Given the description of an element on the screen output the (x, y) to click on. 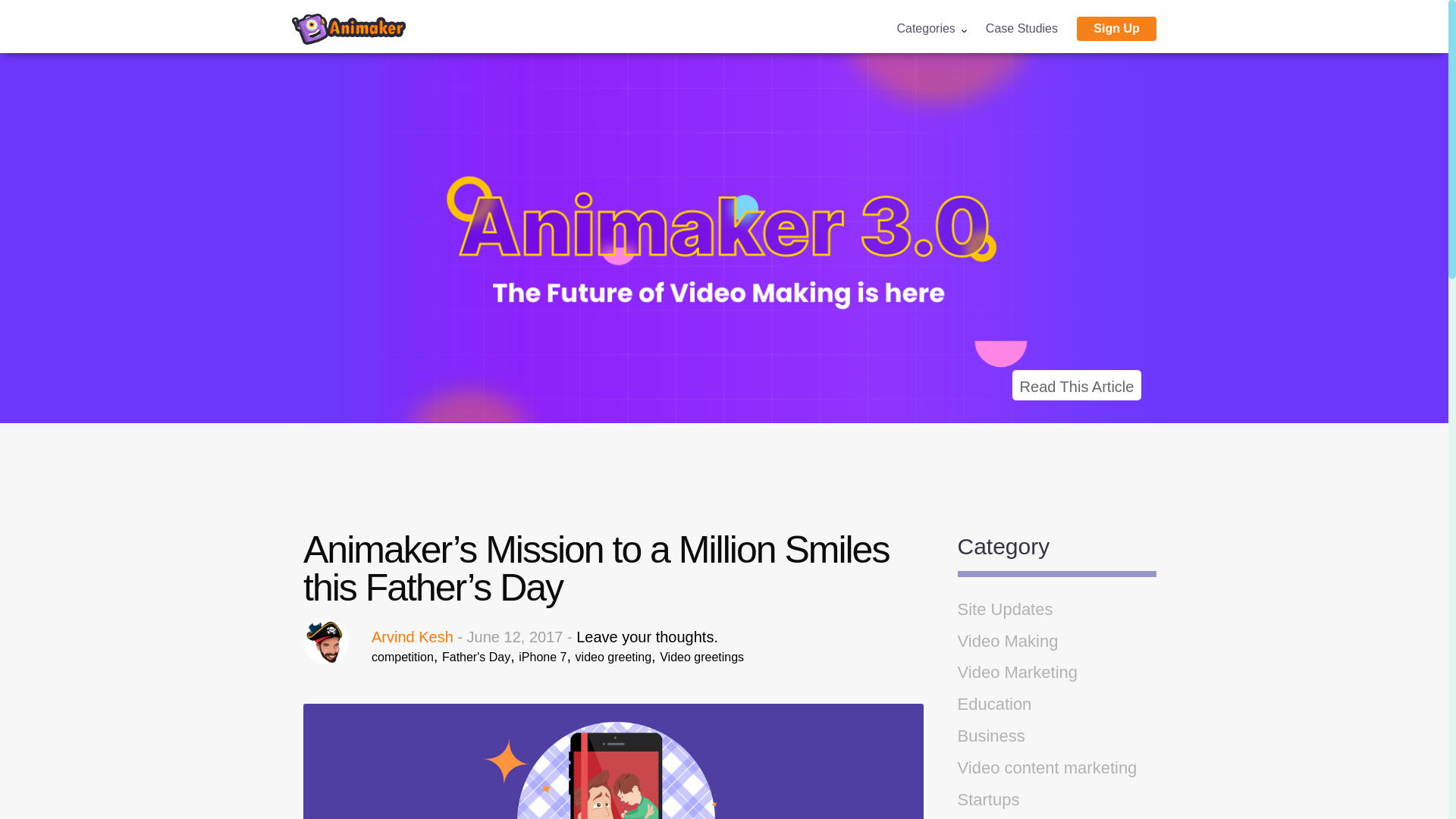
Categories (929, 28)
Leave your thoughts. (646, 636)
Posts by Arvind Kesh (411, 636)
Education (993, 703)
Father's Day (476, 656)
Business (990, 735)
Video Marketing (1016, 671)
Video Making (1007, 640)
Sign Up (1116, 28)
competition (402, 656)
